Given the description of an element on the screen output the (x, y) to click on. 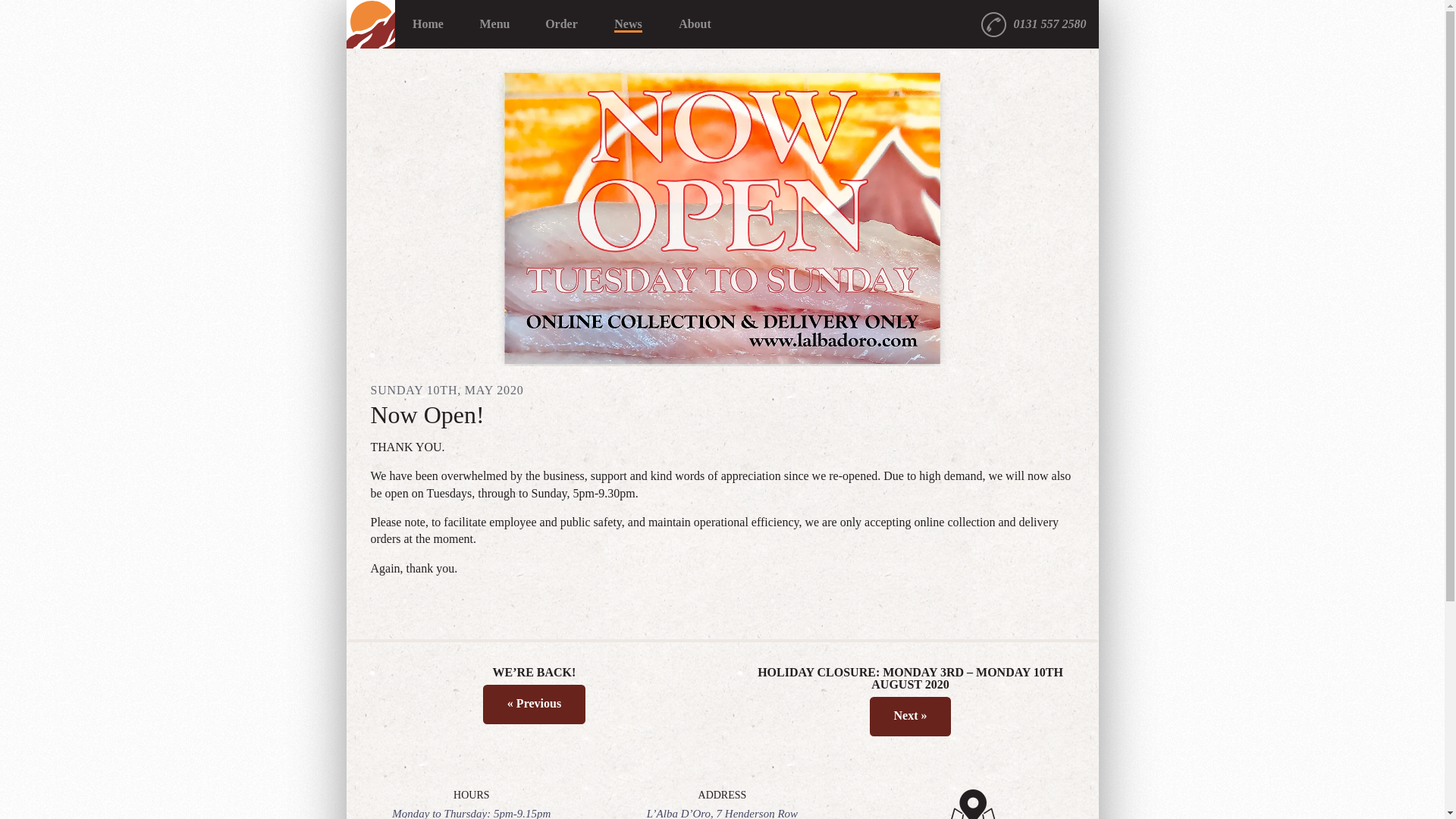
About (694, 24)
News (627, 24)
Order (560, 24)
Skip to content (379, 23)
Menu (494, 24)
Home (427, 24)
